Given the description of an element on the screen output the (x, y) to click on. 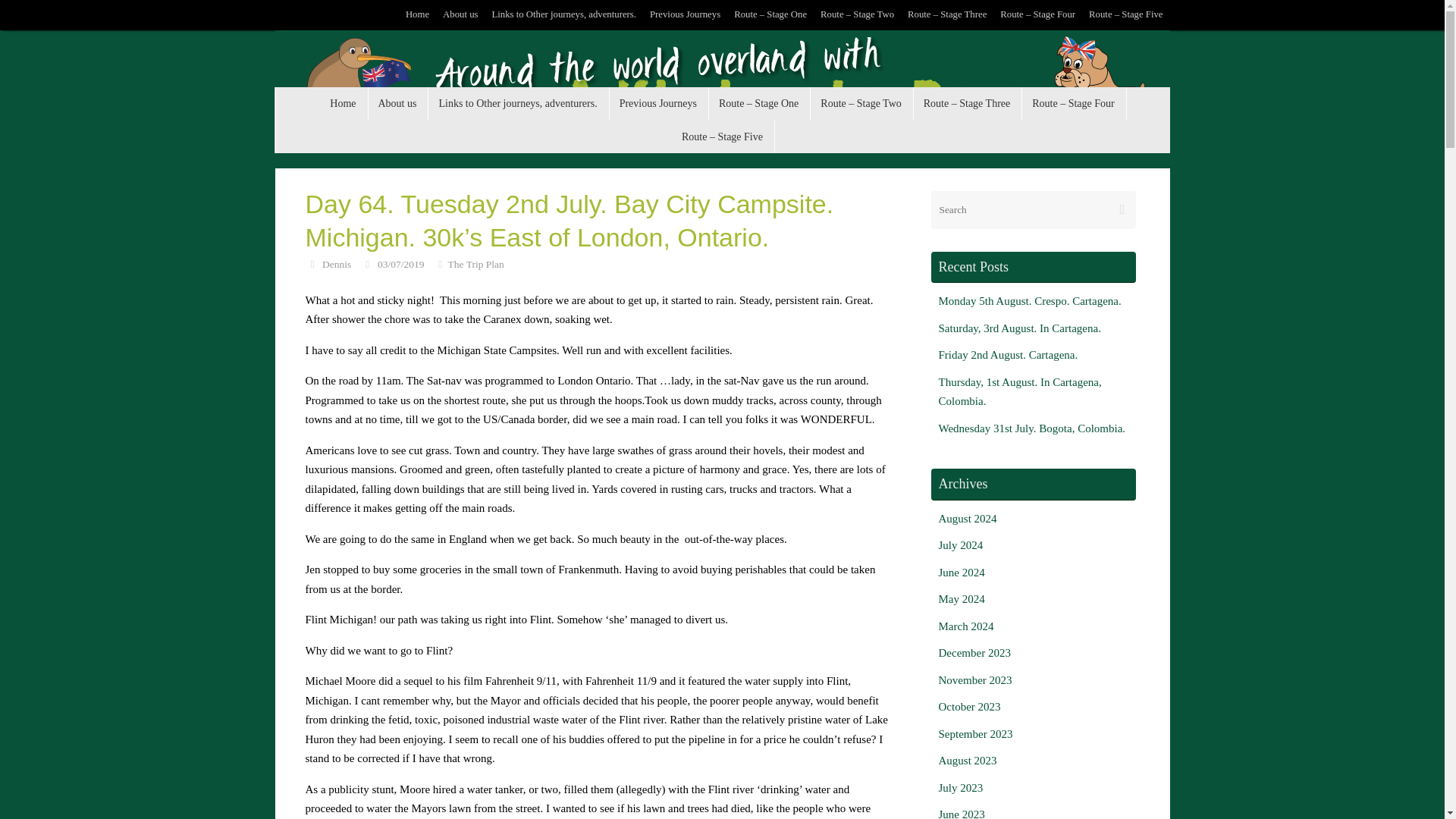
Links to Other journeys, adventurers. (518, 102)
Categories (439, 264)
About us (459, 15)
Author (311, 264)
Home (417, 15)
View all posts by Dennis (335, 264)
Previous Journeys (684, 15)
About us (397, 102)
A Kiwi and a Pom (722, 83)
Links to Other journeys, adventurers. (563, 15)
Date (366, 264)
The Trip Plan (475, 264)
Home (342, 102)
